Given the description of an element on the screen output the (x, y) to click on. 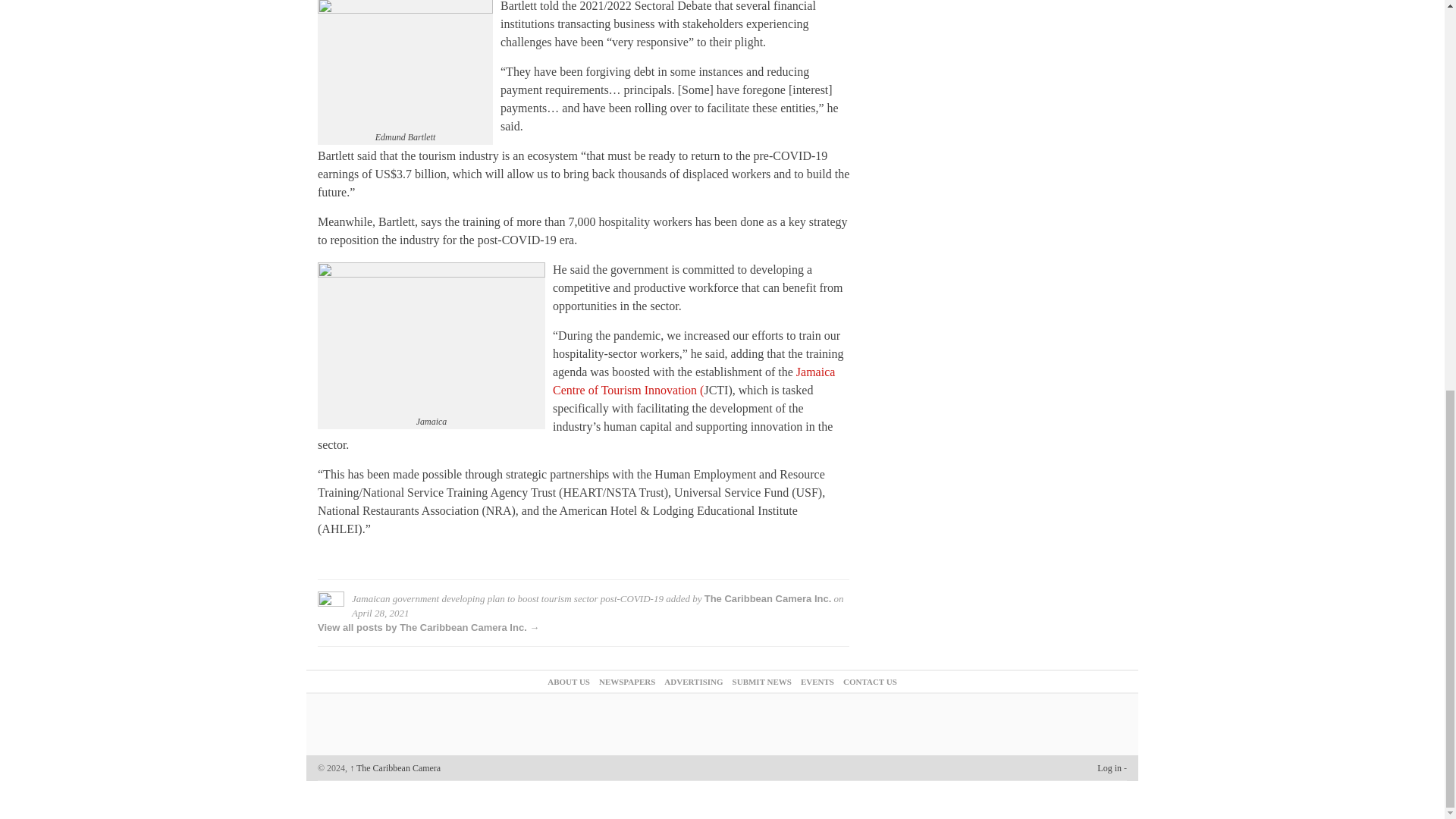
The Caribbean Camera (395, 767)
